Given the description of an element on the screen output the (x, y) to click on. 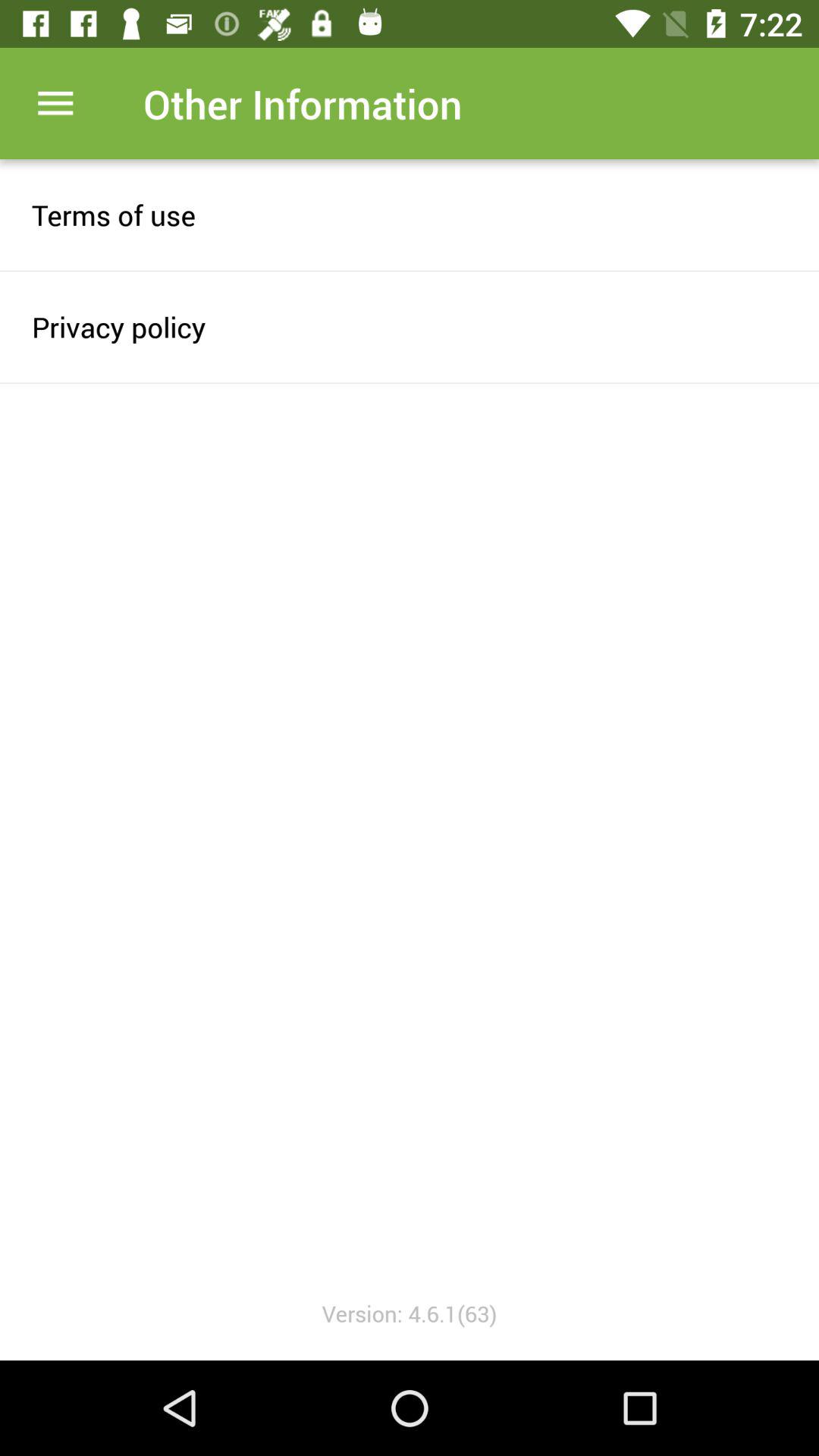
tap the icon to the left of the other information item (55, 103)
